Given the description of an element on the screen output the (x, y) to click on. 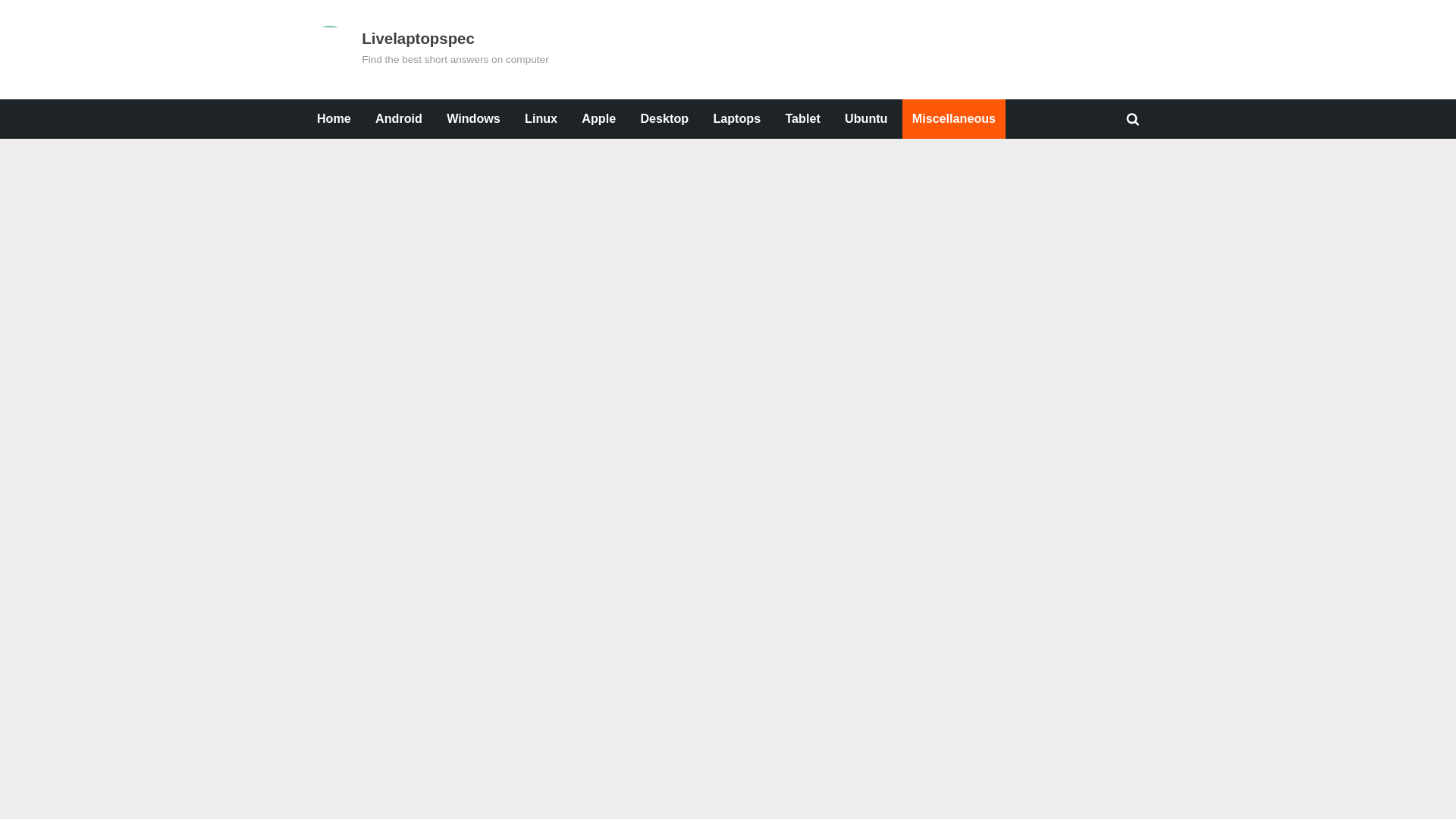
Livelaptopspec (417, 38)
Linux (541, 118)
Toggle search form (1133, 118)
Home (334, 118)
Windows (473, 118)
Desktop (664, 118)
Ubuntu (865, 118)
Miscellaneous (954, 118)
Android (398, 118)
Laptops (736, 118)
